Given the description of an element on the screen output the (x, y) to click on. 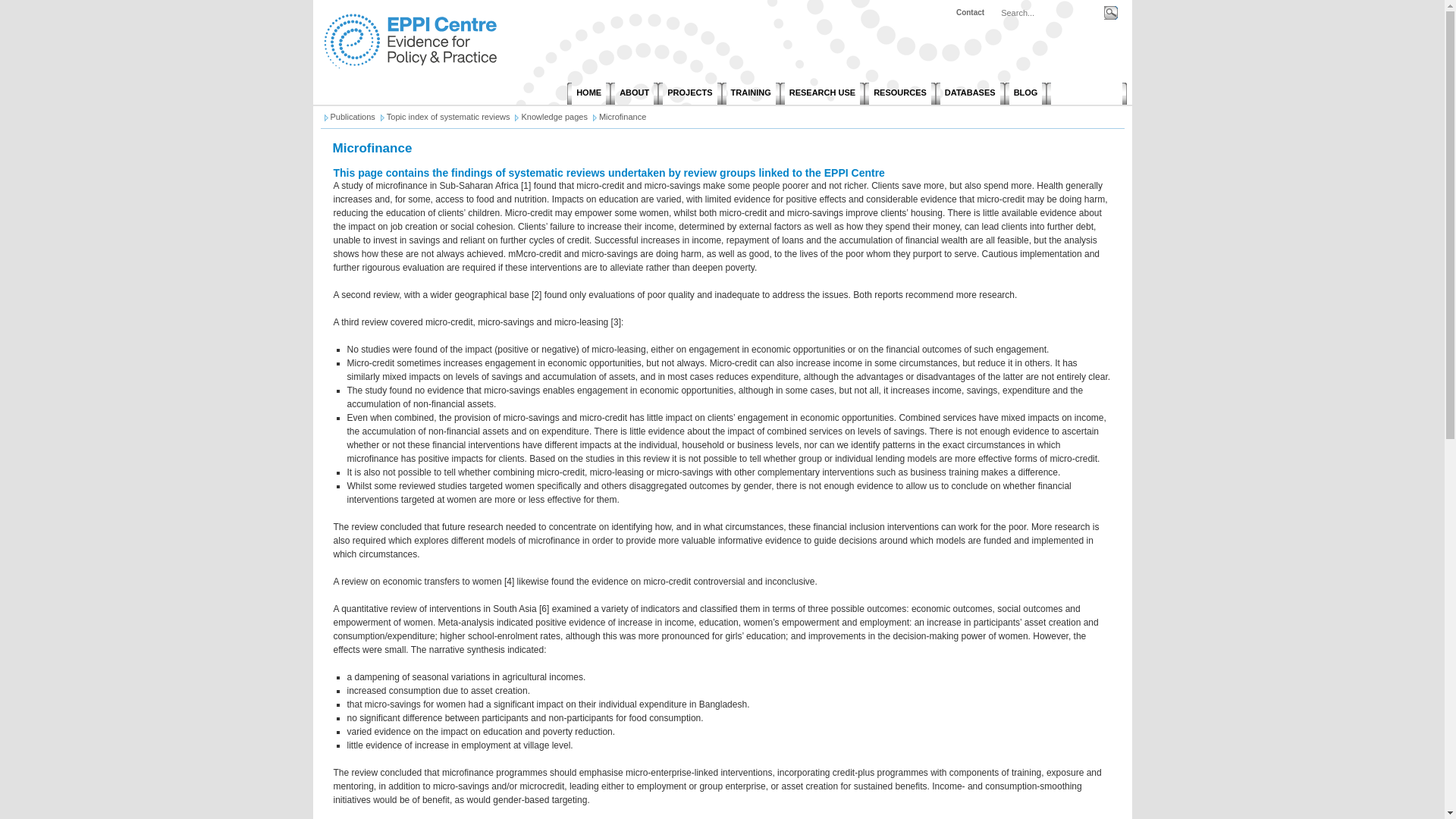
ABOUT (634, 93)
HOME (588, 93)
Clear search text (1093, 31)
PROJECTS (689, 93)
Contact (970, 12)
